Given the description of an element on the screen output the (x, y) to click on. 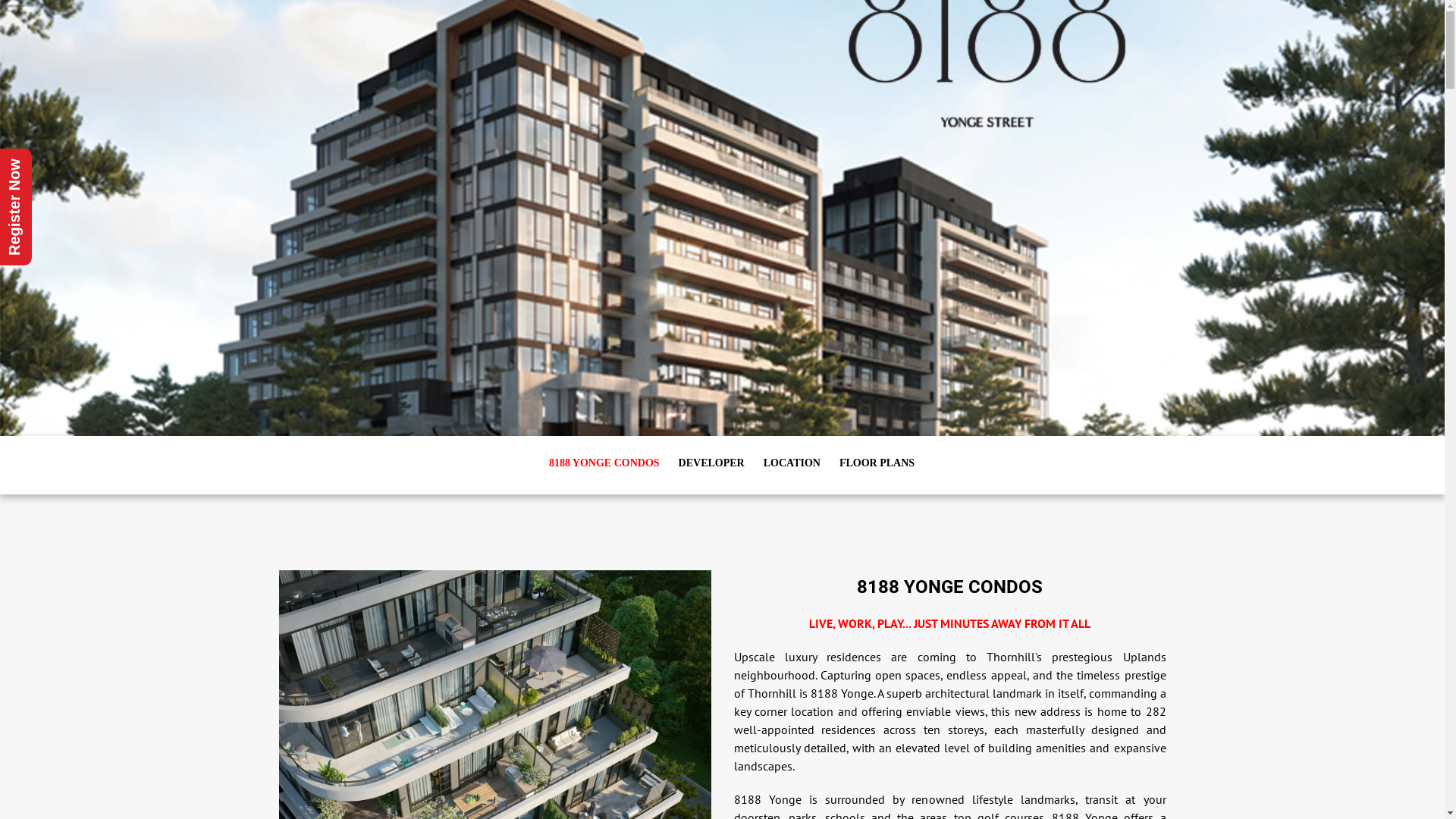
FLOOR PLANS Element type: text (876, 462)
LOCATION Element type: text (791, 462)
DEVELOPER Element type: text (711, 462)
8188 YONGE CONDOS Element type: text (604, 462)
